Given the description of an element on the screen output the (x, y) to click on. 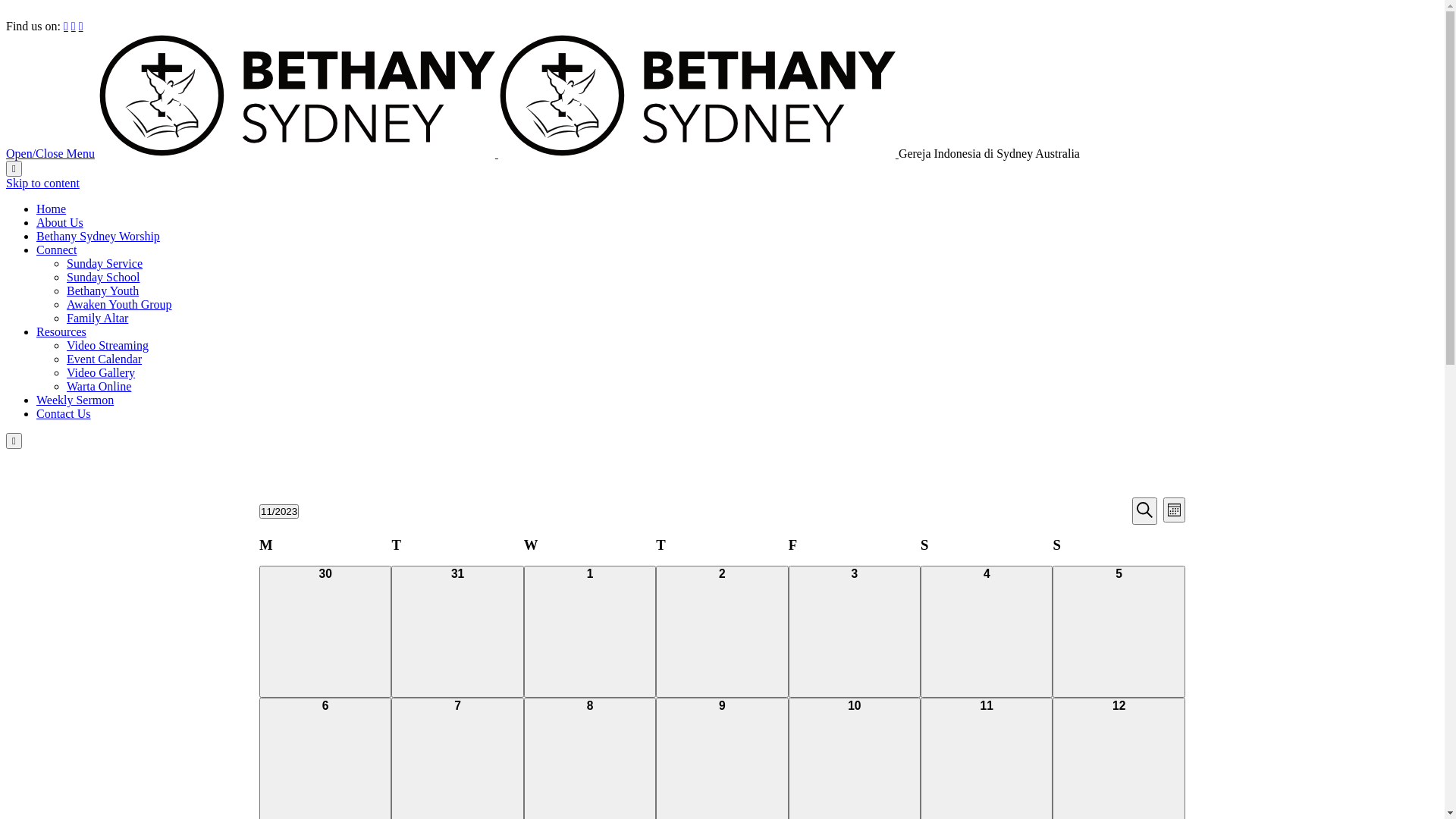
11/2023 Element type: text (278, 510)
Skip to content Element type: text (42, 182)
Contact Us Element type: text (63, 413)
0 events,
4 Element type: text (986, 631)
0 events,
3 Element type: text (854, 631)
Search Element type: text (1144, 510)
Home Element type: text (50, 208)
Video Streaming Element type: text (107, 344)
Bethany Sydney Worship Element type: text (98, 235)
Event Calendar Element type: text (103, 358)
Awaken Youth Group Element type: text (119, 304)
Month Element type: text (1174, 509)
Weekly Sermon Element type: text (74, 399)
Warta Online Element type: text (98, 385)
Sunday Service Element type: text (104, 263)
Family Altar Element type: text (97, 317)
About Us Element type: text (59, 222)
Bethany Youth Element type: text (102, 290)
0 events,
5 Element type: text (1118, 631)
Open/Close Menu Element type: text (50, 153)
Connect Element type: text (56, 249)
0 events,
1 Element type: text (589, 631)
Sunday School Element type: text (102, 276)
Resources Element type: text (61, 331)
0 events,
31 Element type: text (457, 631)
0 events,
30 Element type: text (325, 631)
Video Gallery Element type: text (100, 372)
0 events,
2 Element type: text (721, 631)
